Given the description of an element on the screen output the (x, y) to click on. 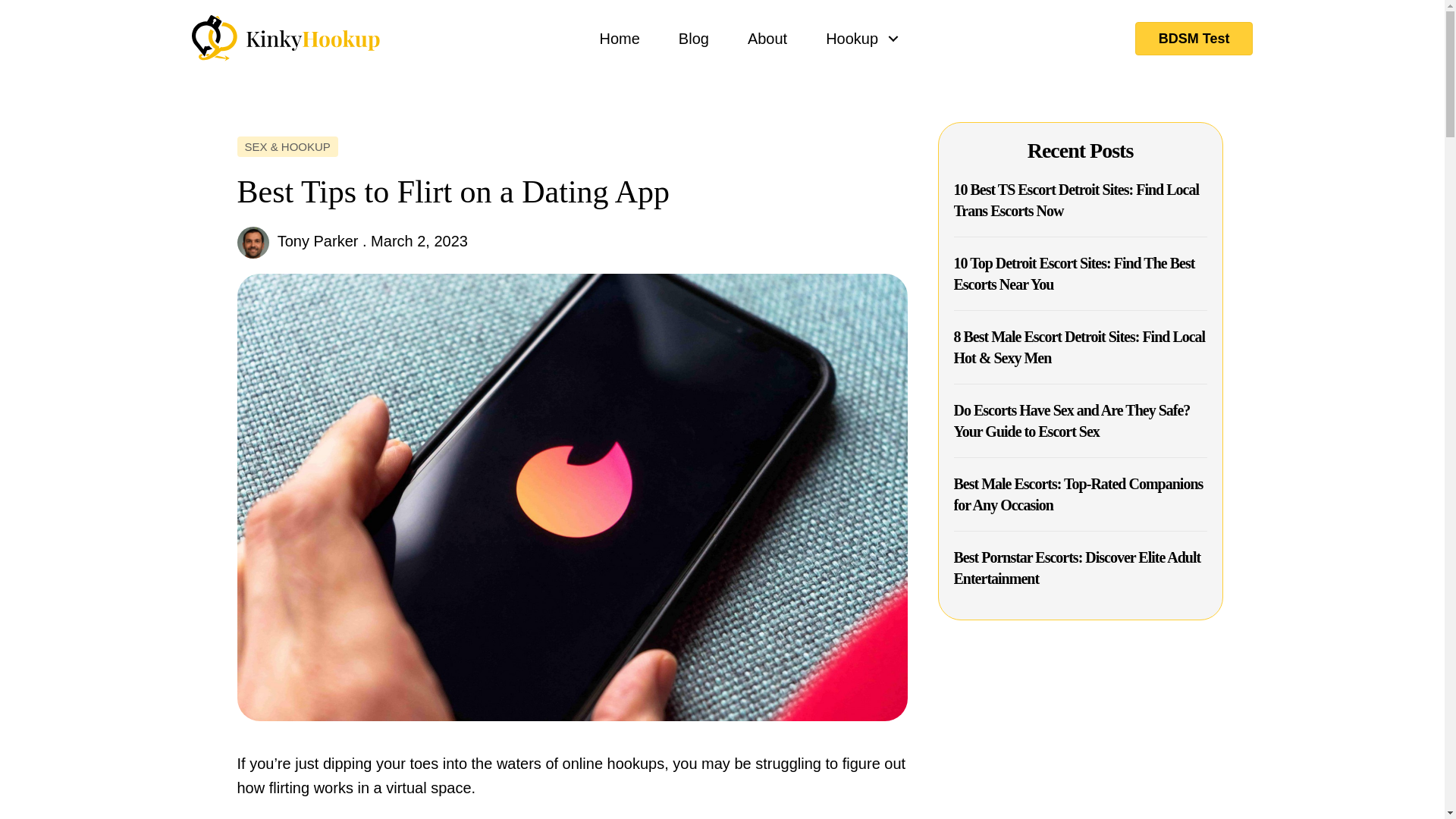
Best Pornstar Escorts: Discover Elite Adult Entertainment (1077, 567)
Best Pornstar Escorts: Discover Elite Adult Entertainment (1077, 567)
Best Male Escorts: Top-Rated Companions for Any Occasion (1078, 494)
Home (619, 37)
BDSM Test (1194, 37)
Hookup (856, 37)
